Given the description of an element on the screen output the (x, y) to click on. 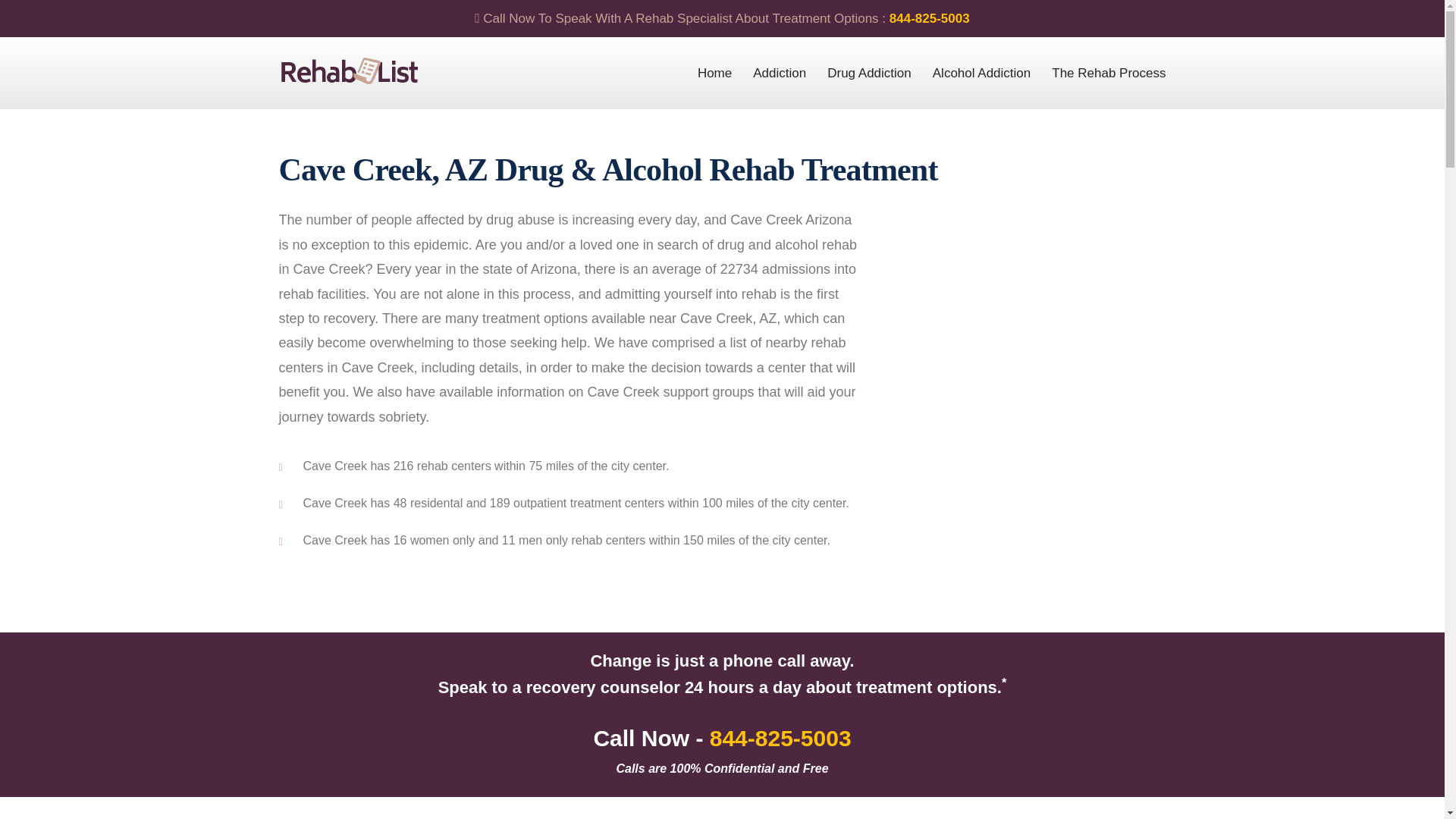
The Rehab Process (1108, 72)
Home (714, 72)
844-825-5003 (780, 738)
Alcohol Addiction (981, 72)
844-825-5003 (929, 18)
Addiction (779, 72)
Drug Addiction (869, 72)
